Given the description of an element on the screen output the (x, y) to click on. 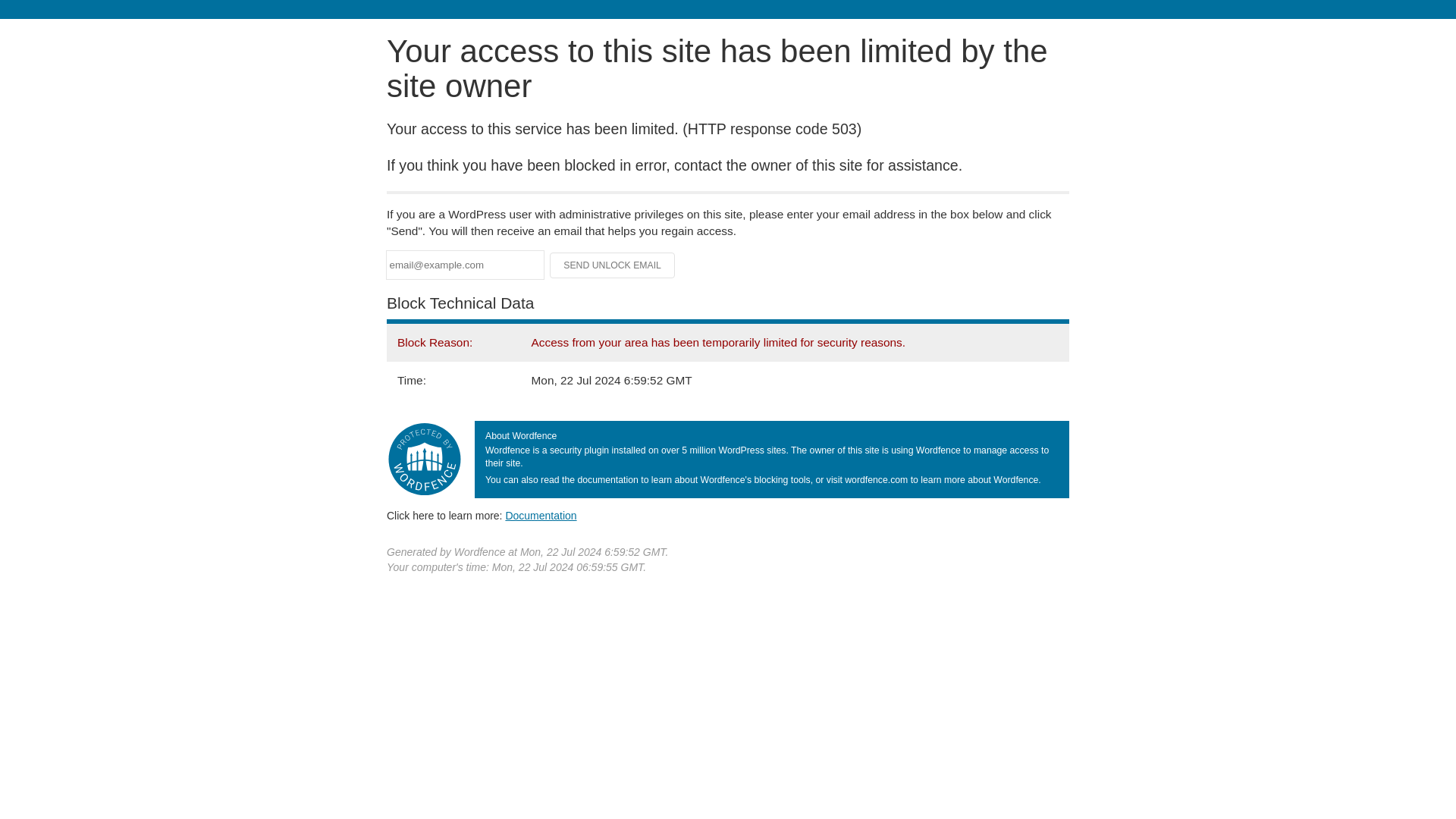
Send Unlock Email (612, 265)
Send Unlock Email (612, 265)
Documentation (540, 515)
